Given the description of an element on the screen output the (x, y) to click on. 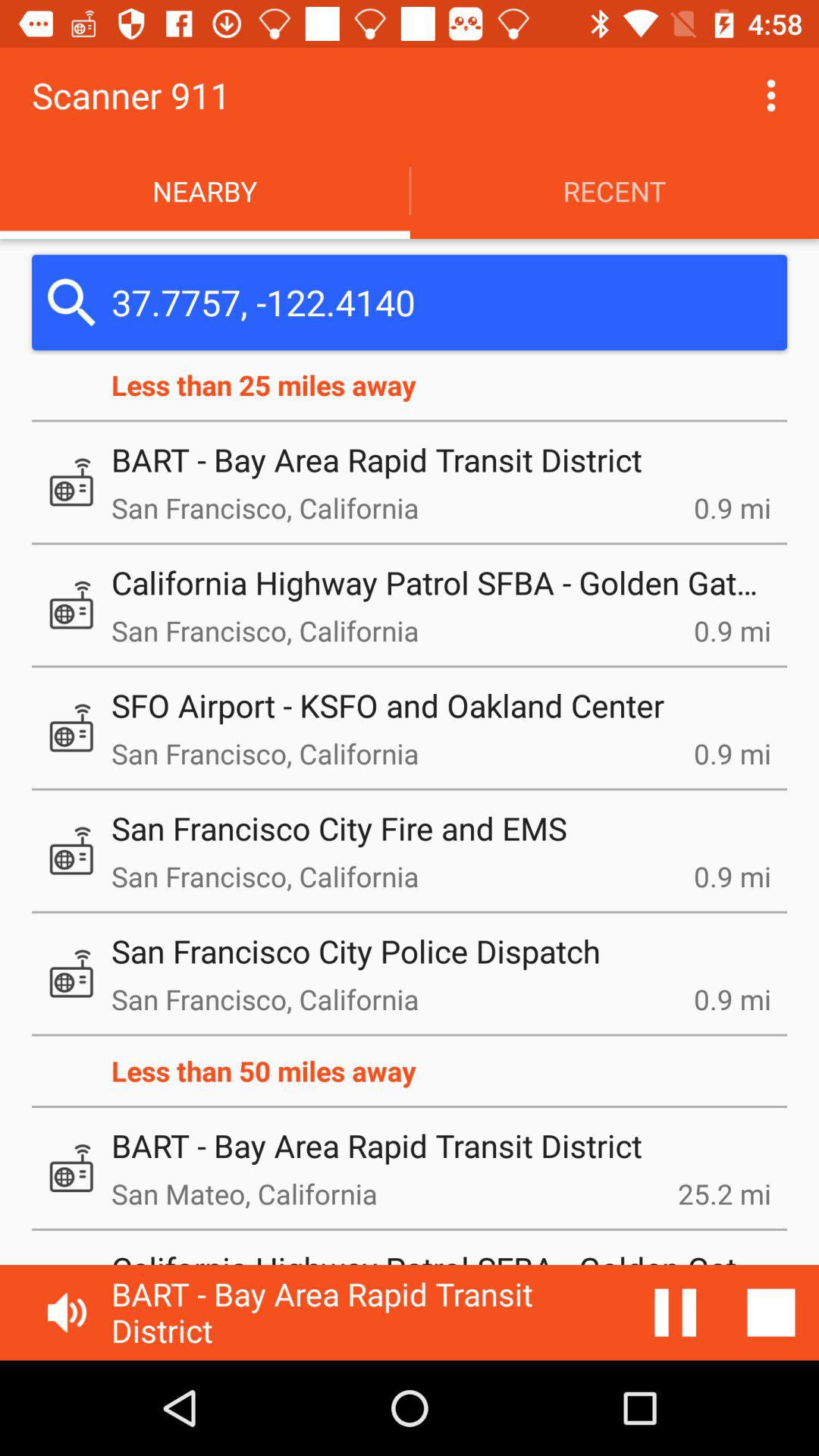
stop music (771, 1312)
